Given the description of an element on the screen output the (x, y) to click on. 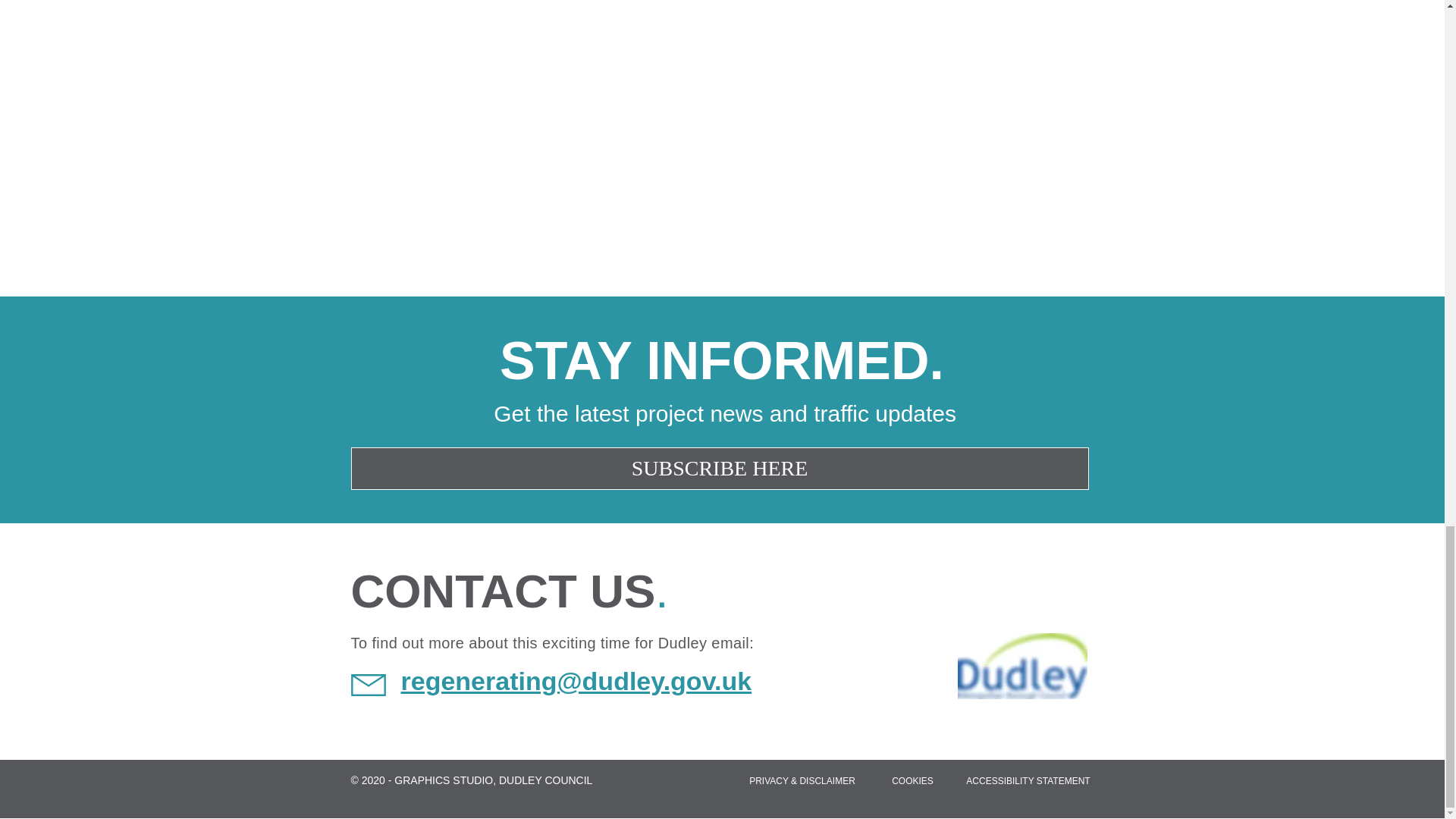
ACCESSIBILITY STATEMENT (1027, 780)
SUBSCRIBE HERE (718, 468)
COOKIES (912, 780)
